Given the description of an element on the screen output the (x, y) to click on. 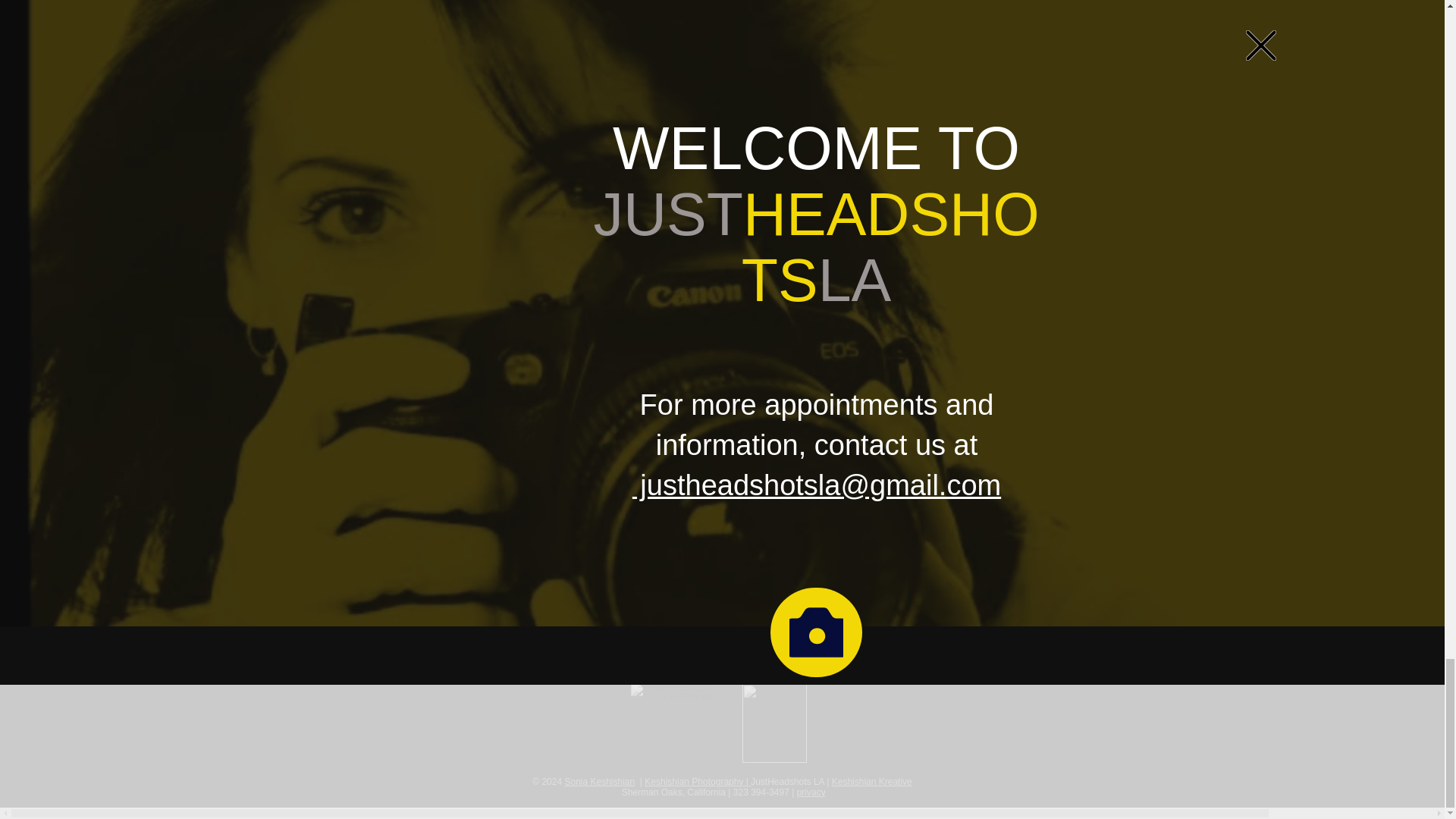
RATES (741, 265)
Go Beyond Headshots (755, 101)
TESTIMONIALS (656, 265)
View Performance Photography (784, 155)
ABOUT (469, 265)
WELCOME (393, 265)
